Given the description of an element on the screen output the (x, y) to click on. 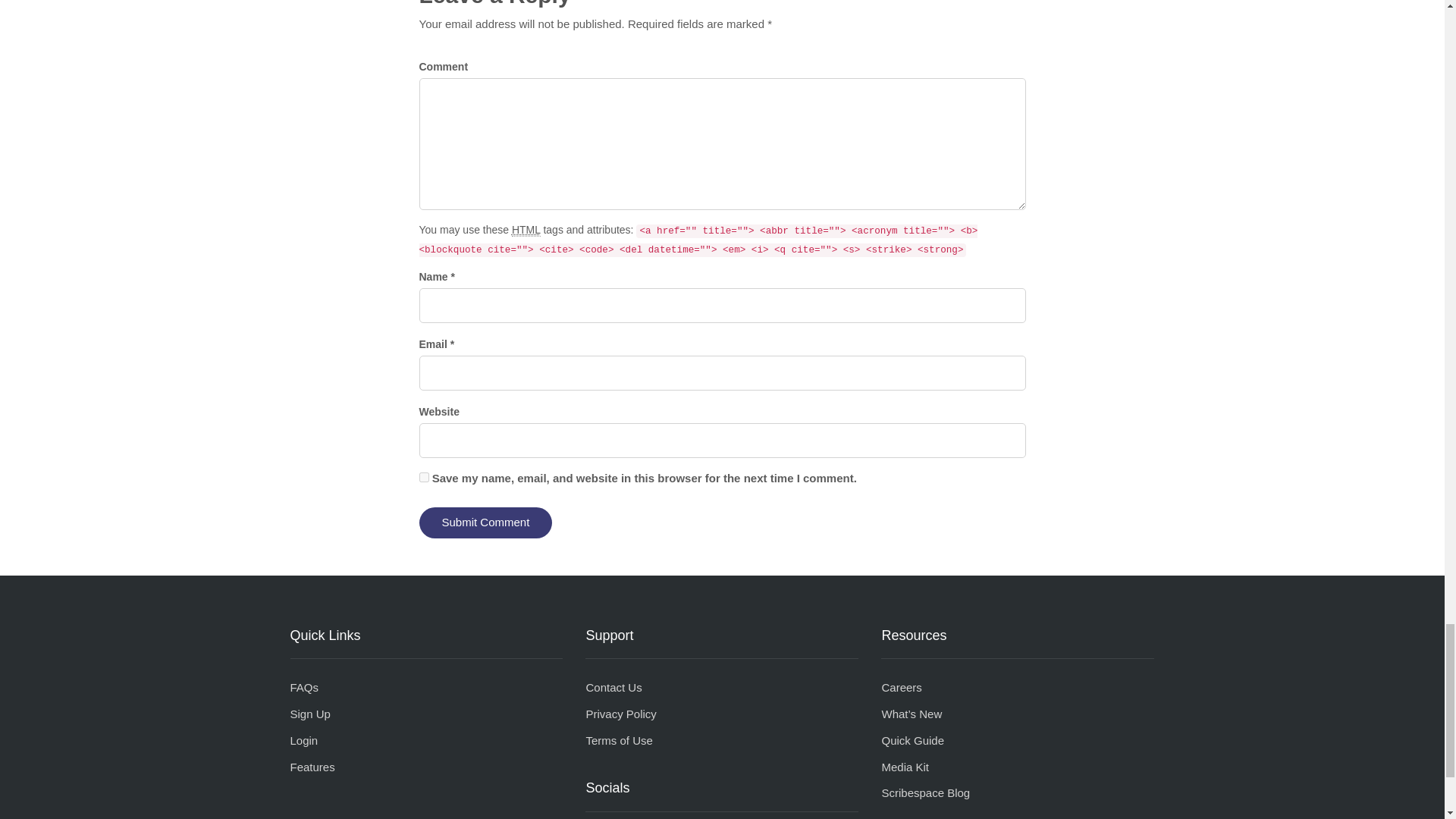
Sign Up (309, 713)
Scribespace Blog (924, 792)
Quick Guide (911, 739)
yes (423, 477)
Contact Us (613, 686)
Submit Comment (485, 522)
Media Kit (904, 766)
Terms of Use (618, 739)
Login (303, 739)
HyperText Markup Language (526, 229)
